Given the description of an element on the screen output the (x, y) to click on. 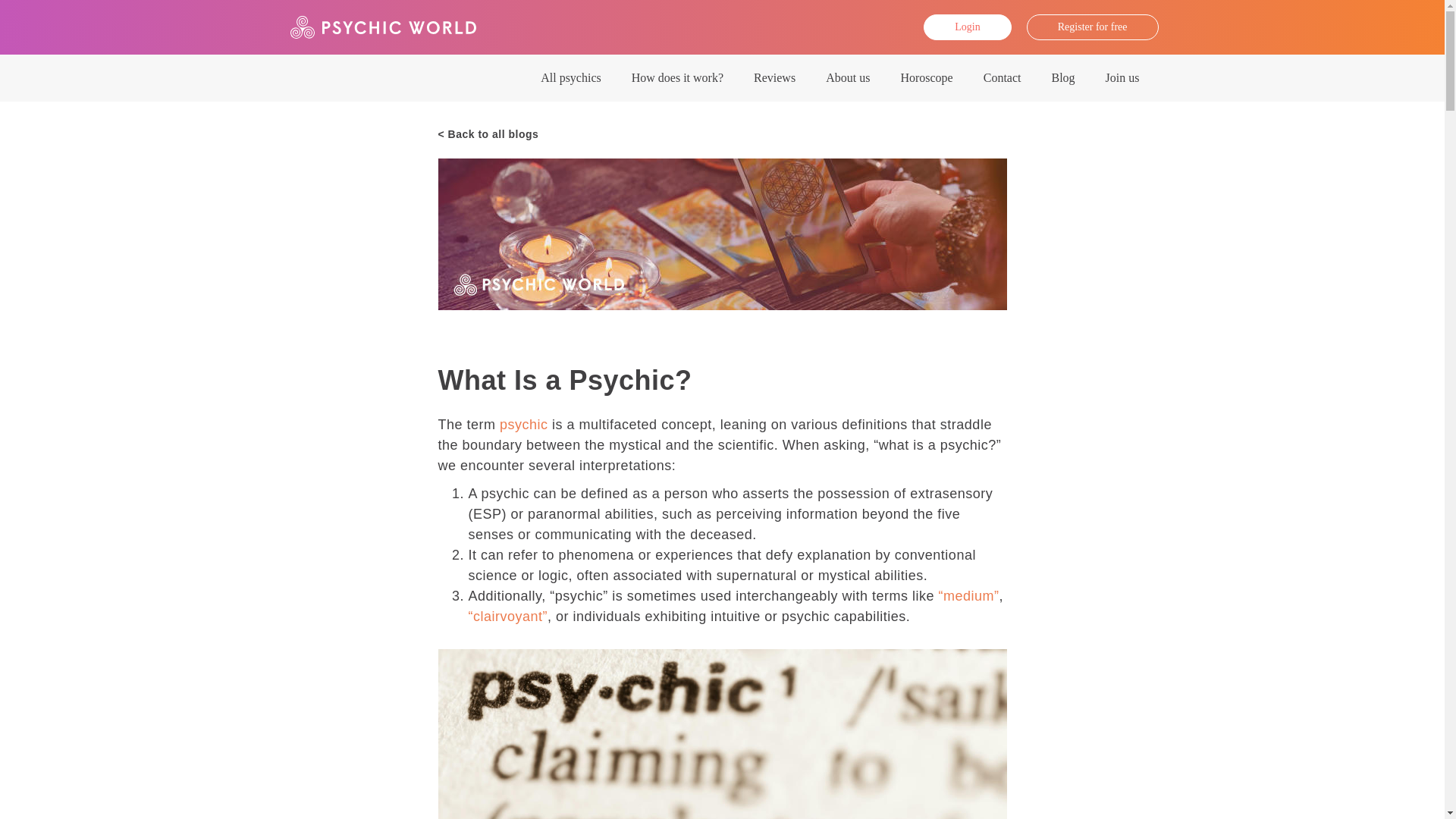
Login (966, 27)
About us (847, 77)
All psychics (570, 77)
Reviews (774, 77)
Horoscope (926, 77)
Register for free (1092, 27)
How does it work? (676, 77)
Blog (1062, 77)
psychic (523, 424)
Contact (1002, 77)
